Given the description of an element on the screen output the (x, y) to click on. 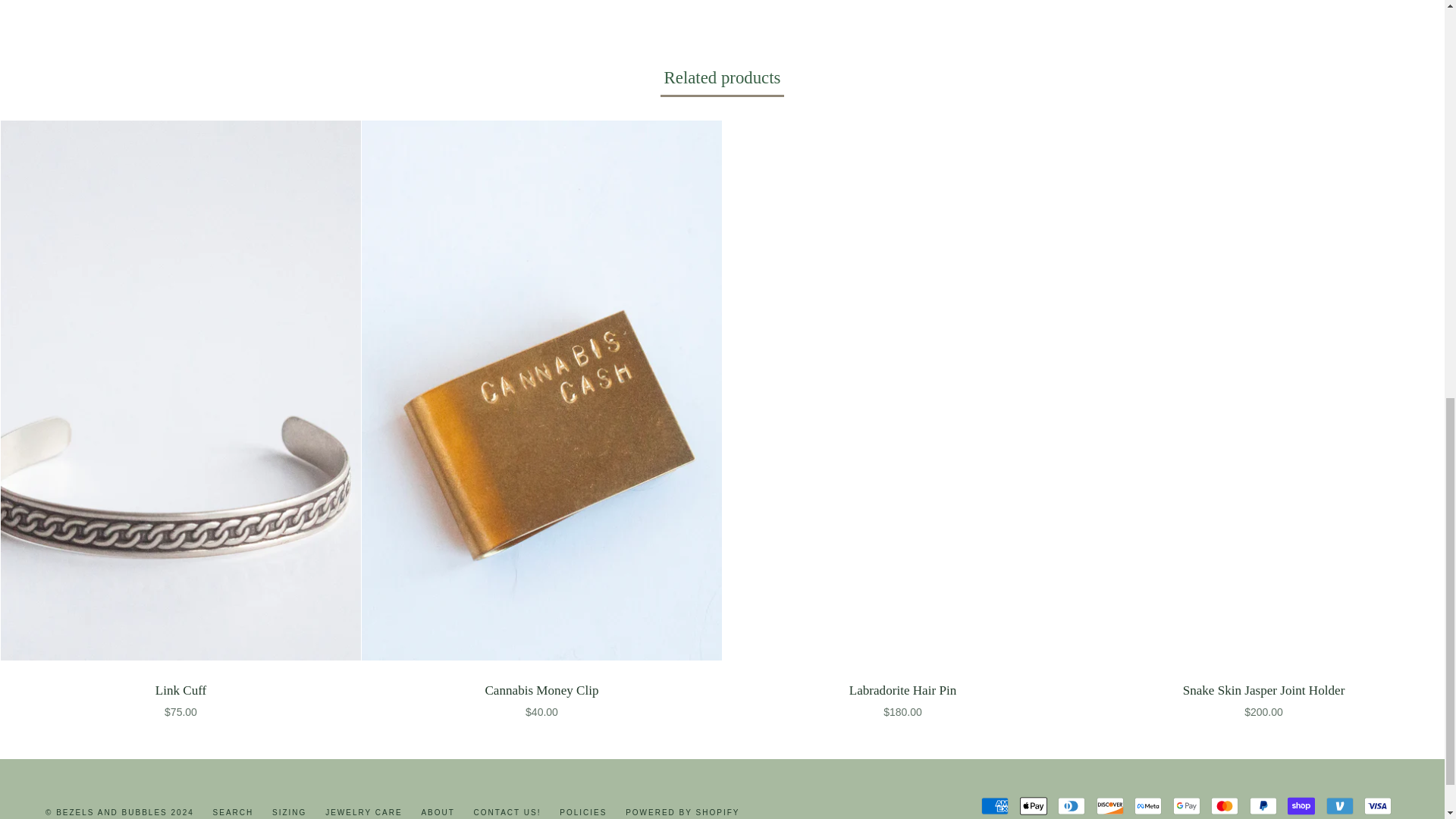
Meta Pay (1147, 805)
American Express (995, 805)
Diners Club (1071, 805)
Discover (1110, 805)
Apple Pay (1033, 805)
